Given the description of an element on the screen output the (x, y) to click on. 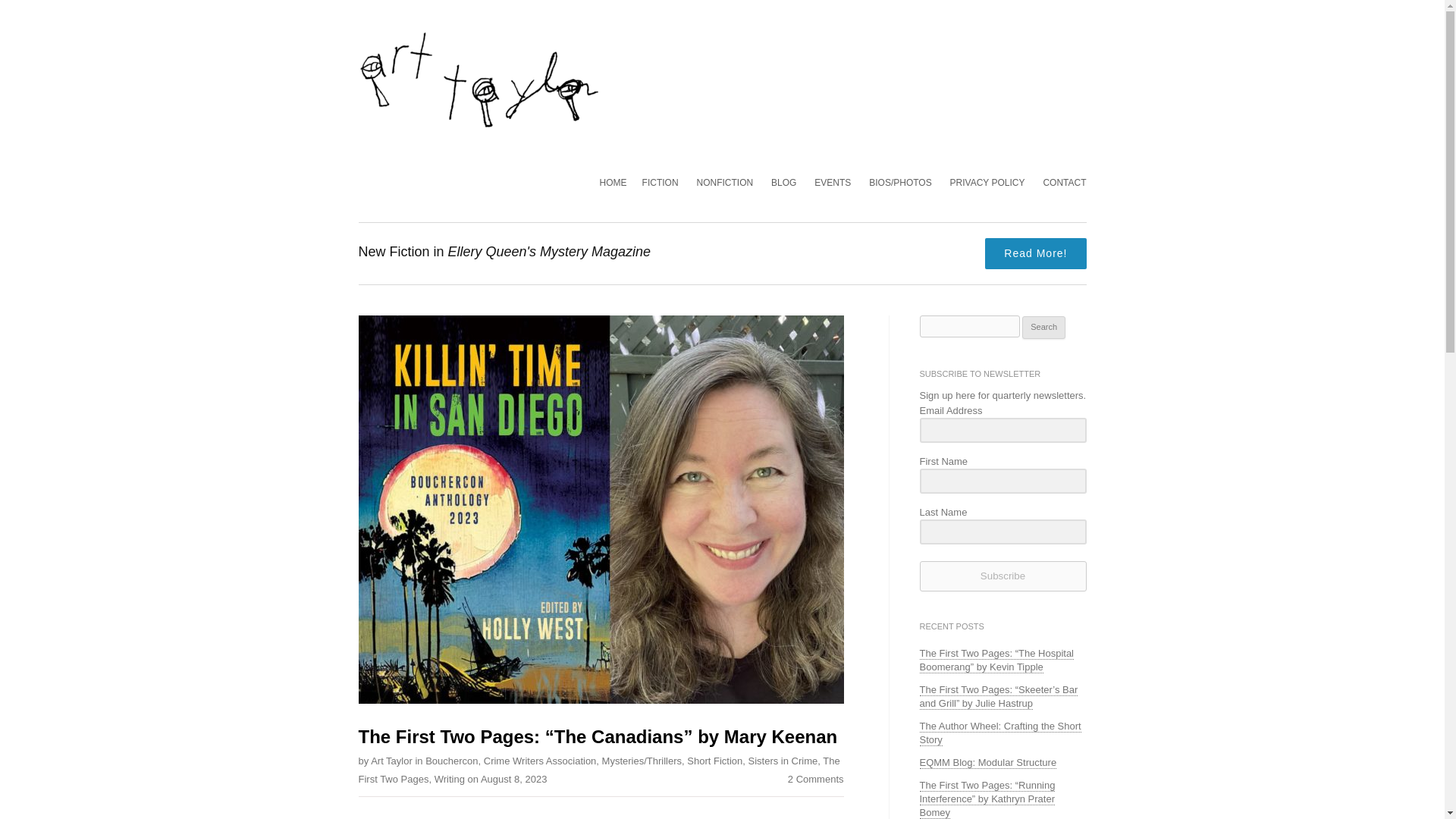
View all posts by Art Taylor (391, 760)
The First Two Pages (599, 769)
Skip to content (684, 37)
Crime Writers Association (539, 760)
EVENTS (831, 182)
Search (1043, 327)
NONFICTION (723, 182)
Search (1043, 327)
2 Comments (815, 778)
Sisters in Crime (782, 760)
PRIVACY POLICY (987, 182)
FICTION (660, 182)
Writing (448, 778)
CONTACT (1064, 182)
Art Taylor (391, 760)
